Given the description of an element on the screen output the (x, y) to click on. 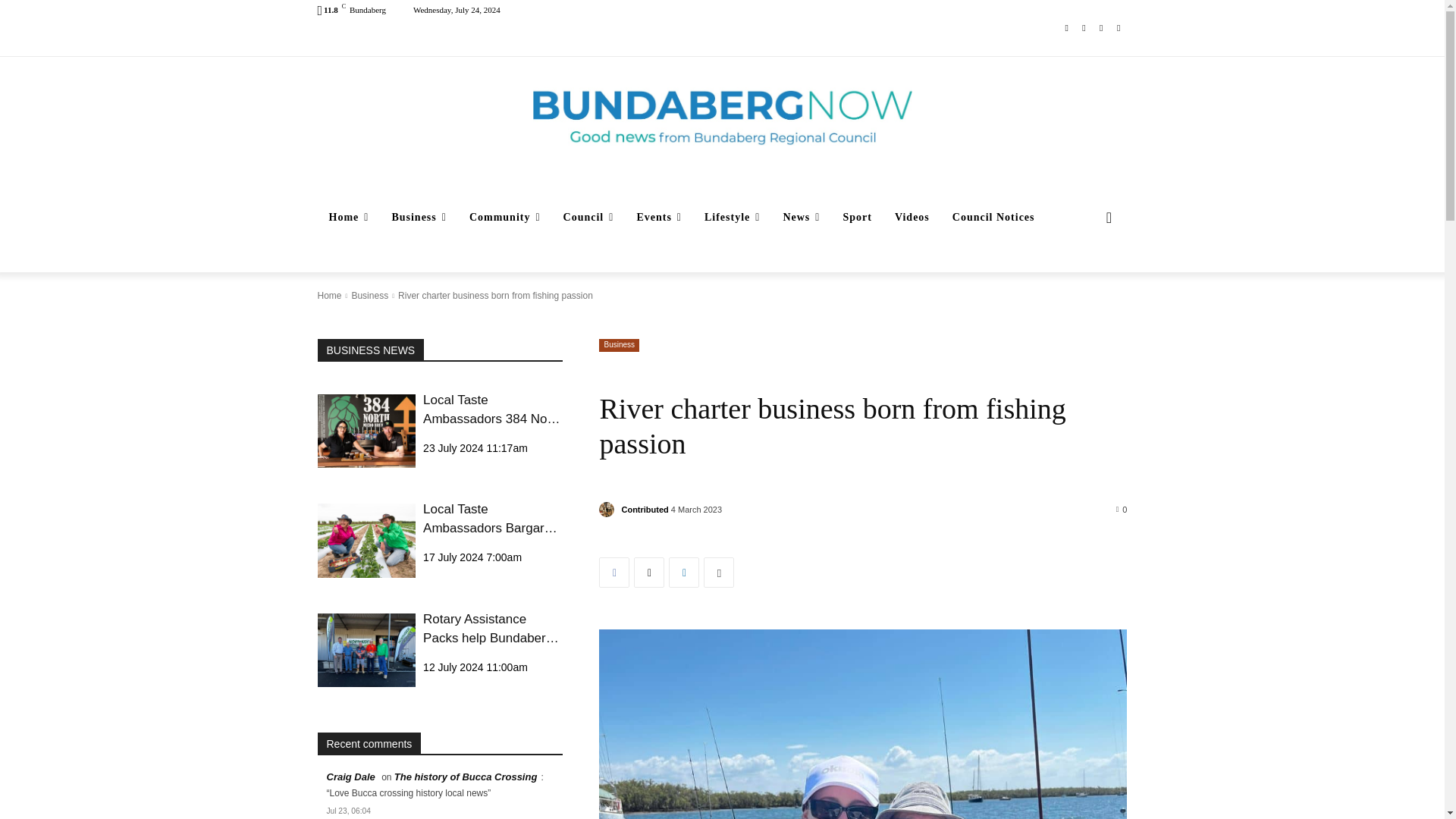
View all posts in Business (369, 295)
Home (348, 217)
Local Taste Ambassadors 384 North Brewing (365, 430)
Bundaberg Now (721, 117)
Bundaberg Now (721, 117)
Facebook (1066, 27)
Twitter (1101, 27)
Instagram (1084, 27)
Youtube (1117, 27)
